Given the description of an element on the screen output the (x, y) to click on. 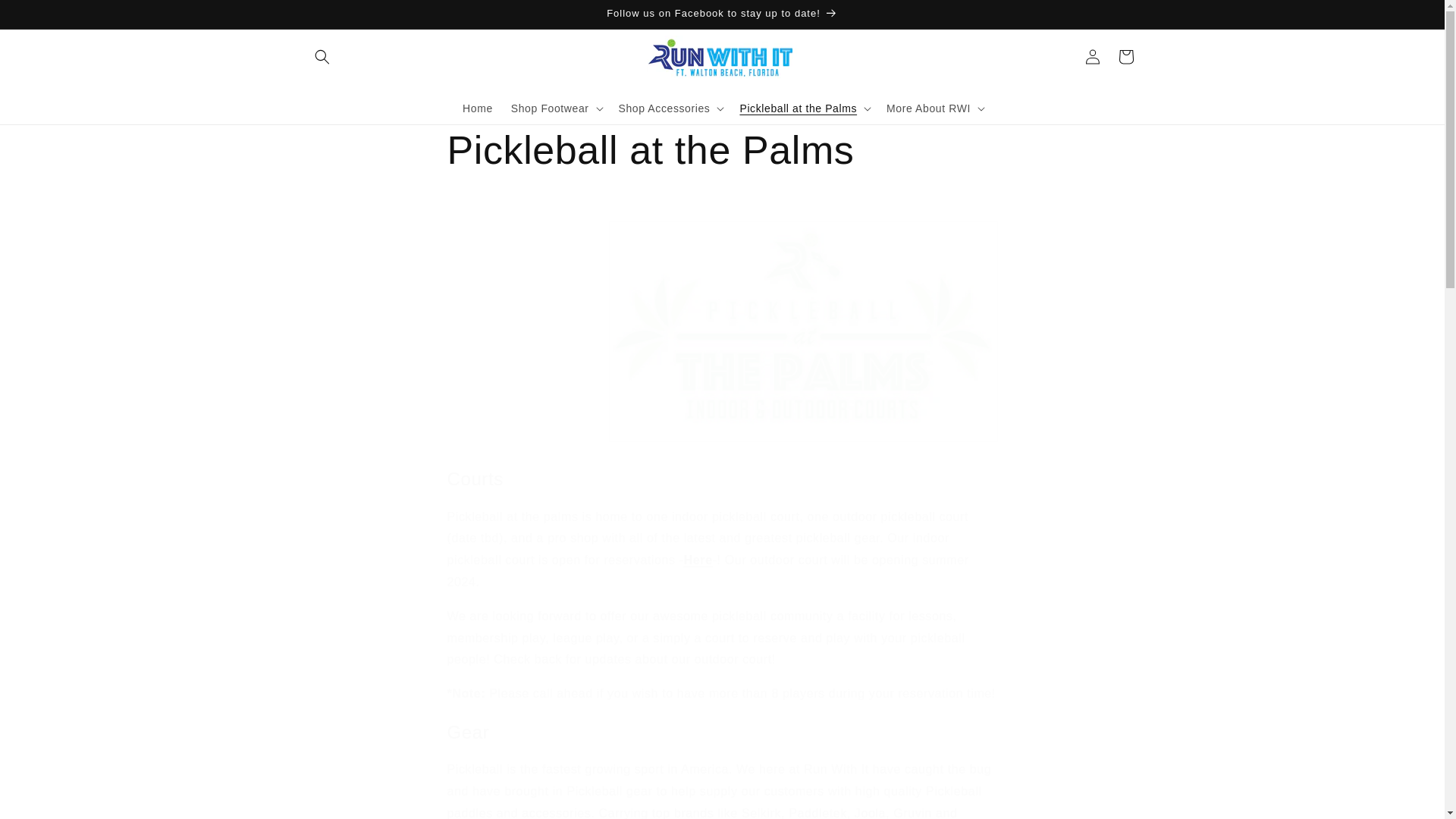
Pickleball at the Palms (721, 150)
Skip to content (45, 17)
Home (477, 108)
Follow us on Facebook to stay up to date! (721, 14)
Reserve our court here (698, 559)
